Given the description of an element on the screen output the (x, y) to click on. 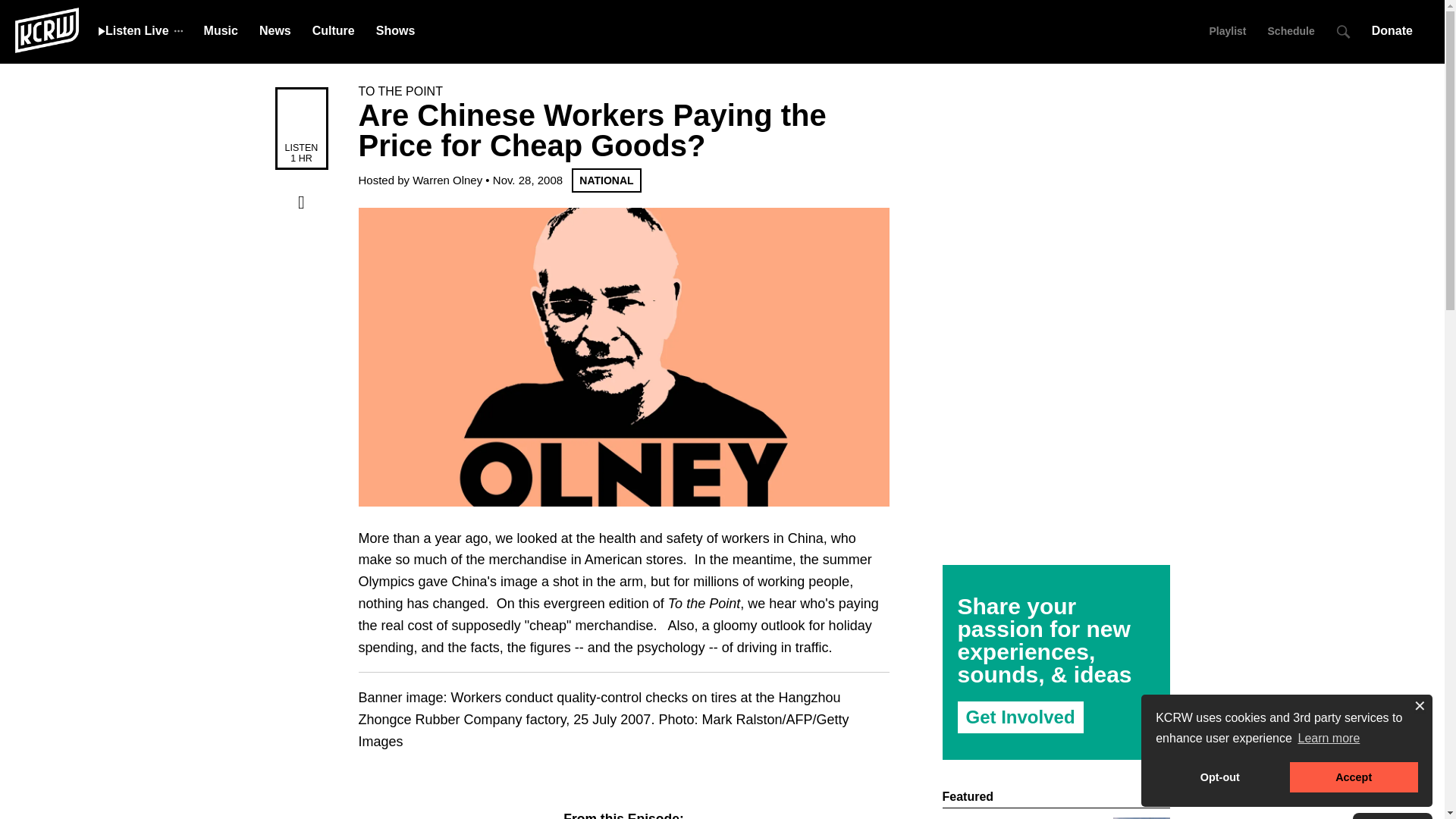
Download Audio (301, 233)
Donate (1397, 30)
Music (220, 30)
KCRW (46, 29)
Share on Facebook (301, 202)
Playlist (1227, 30)
Culture (334, 30)
Opt-out (1220, 777)
News (275, 30)
Warren Olney (446, 179)
Listen Live (133, 30)
Accept (1354, 777)
Get embed code (301, 295)
Shows (394, 30)
NATIONAL (606, 180)
